Given the description of an element on the screen output the (x, y) to click on. 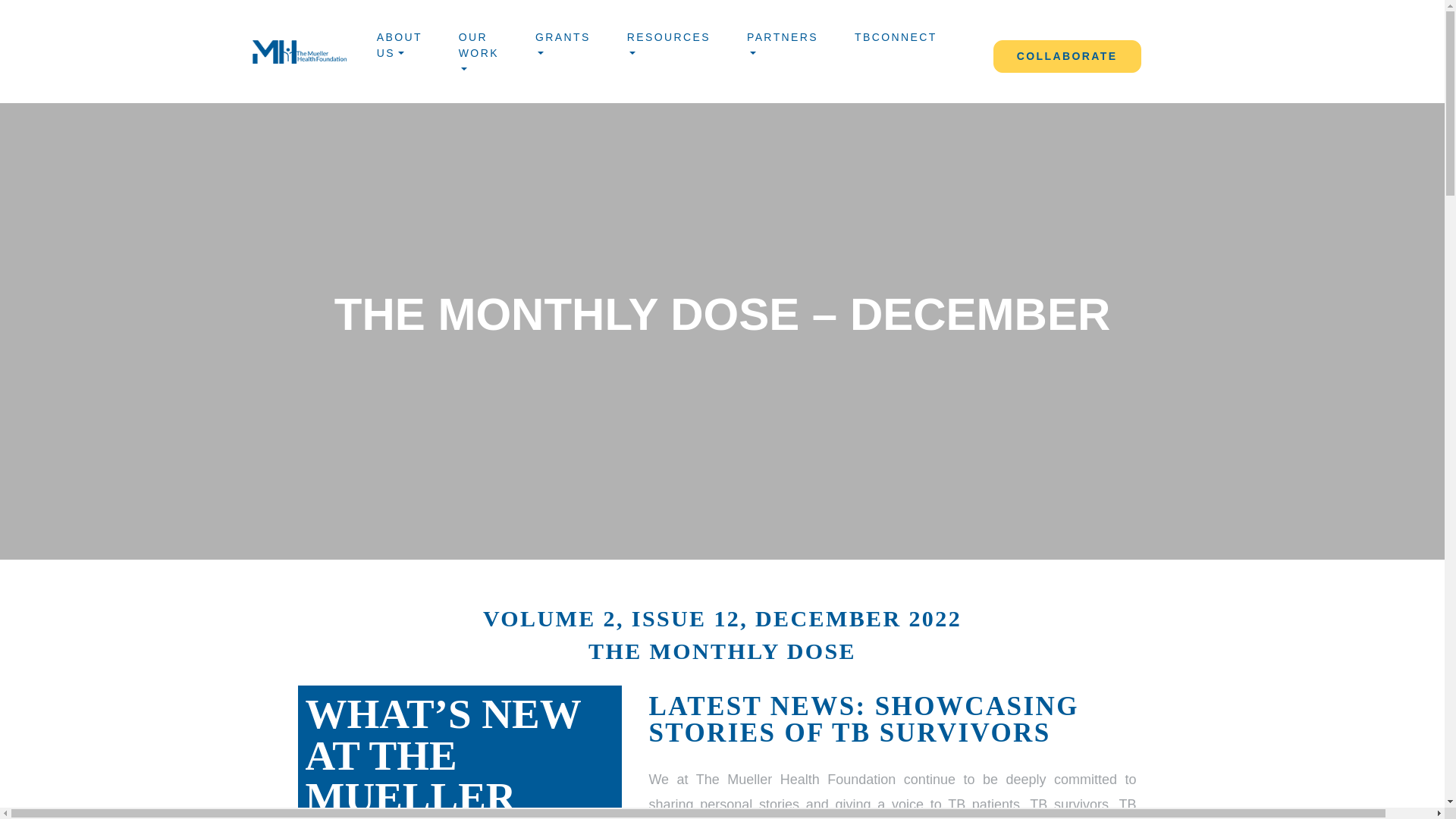
OUR WORK (478, 55)
ABOUT US (399, 47)
PARTNERS (782, 47)
TBCONNECT (895, 39)
RESOURCES (668, 47)
COLLABORATE (1066, 56)
GRANTS (562, 47)
